Given the description of an element on the screen output the (x, y) to click on. 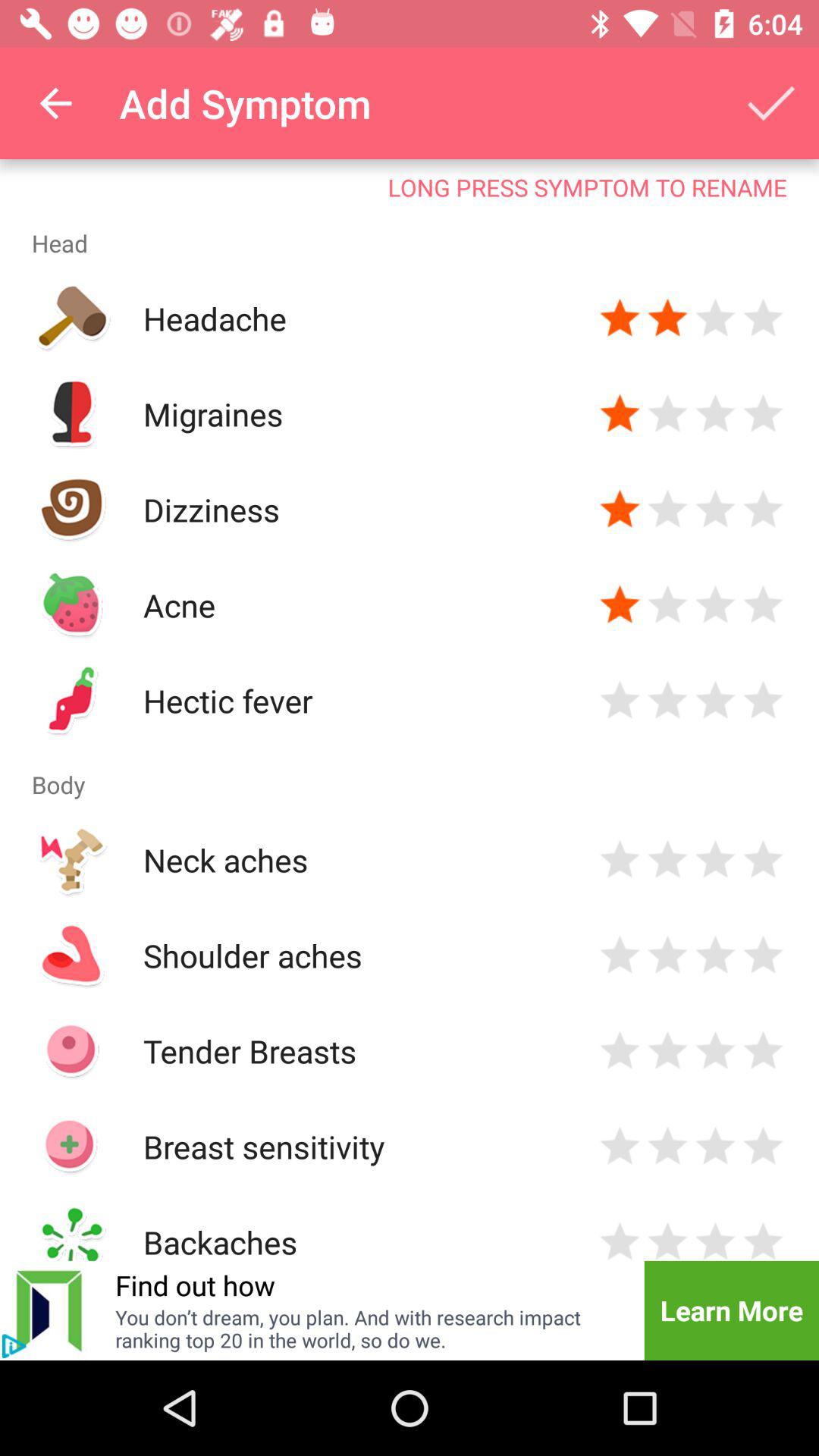
add breast sensitivity as simptom 1/4 intensity (619, 1146)
